Given the description of an element on the screen output the (x, y) to click on. 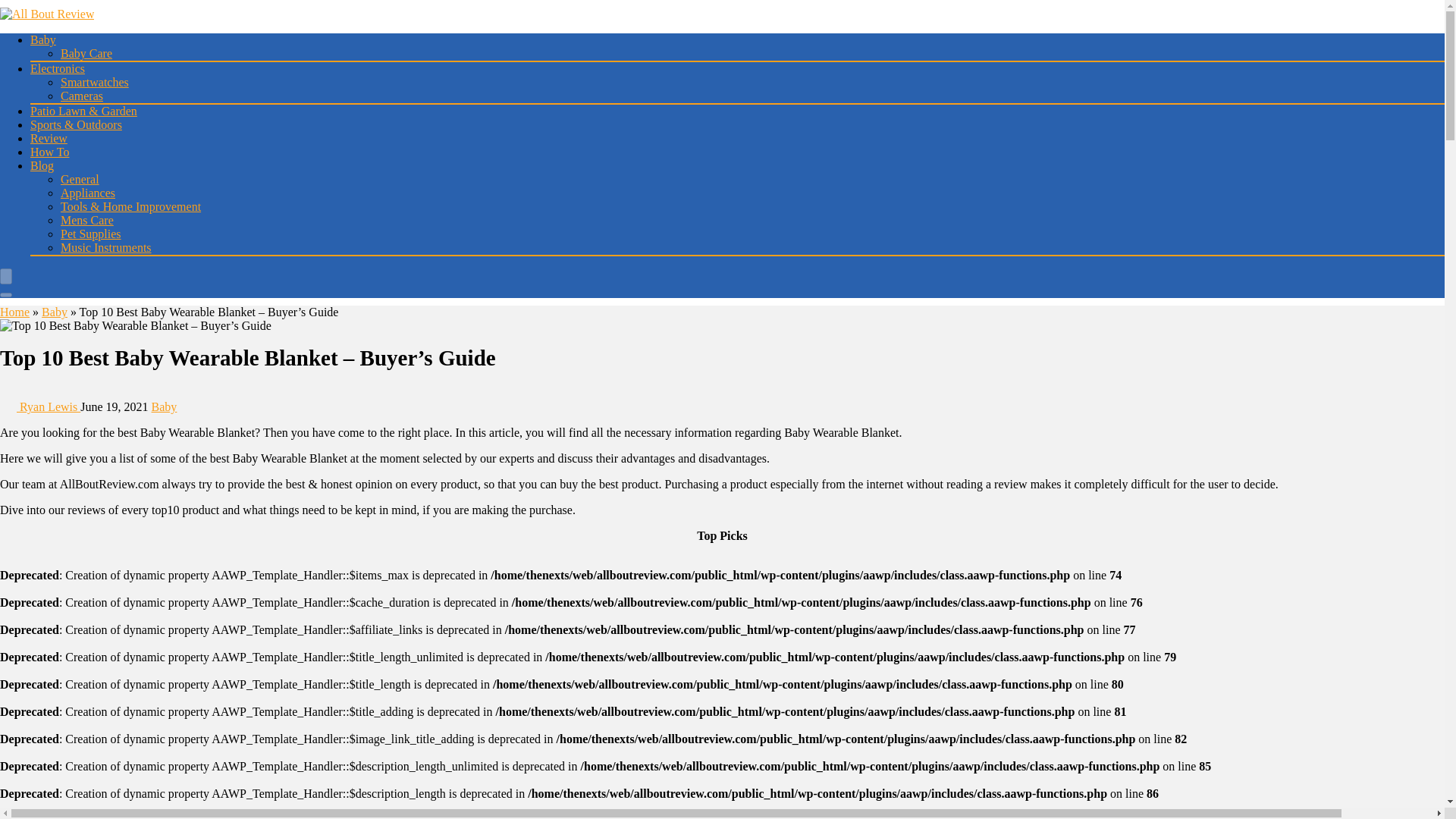
Pet Supplies (90, 233)
Appliances (88, 192)
Cameras (82, 95)
How To (49, 151)
Baby Care (86, 52)
Mens Care (87, 219)
Smartwatches (95, 82)
Ryan Lewis (40, 406)
Electronics (57, 68)
Baby (54, 311)
